Given the description of an element on the screen output the (x, y) to click on. 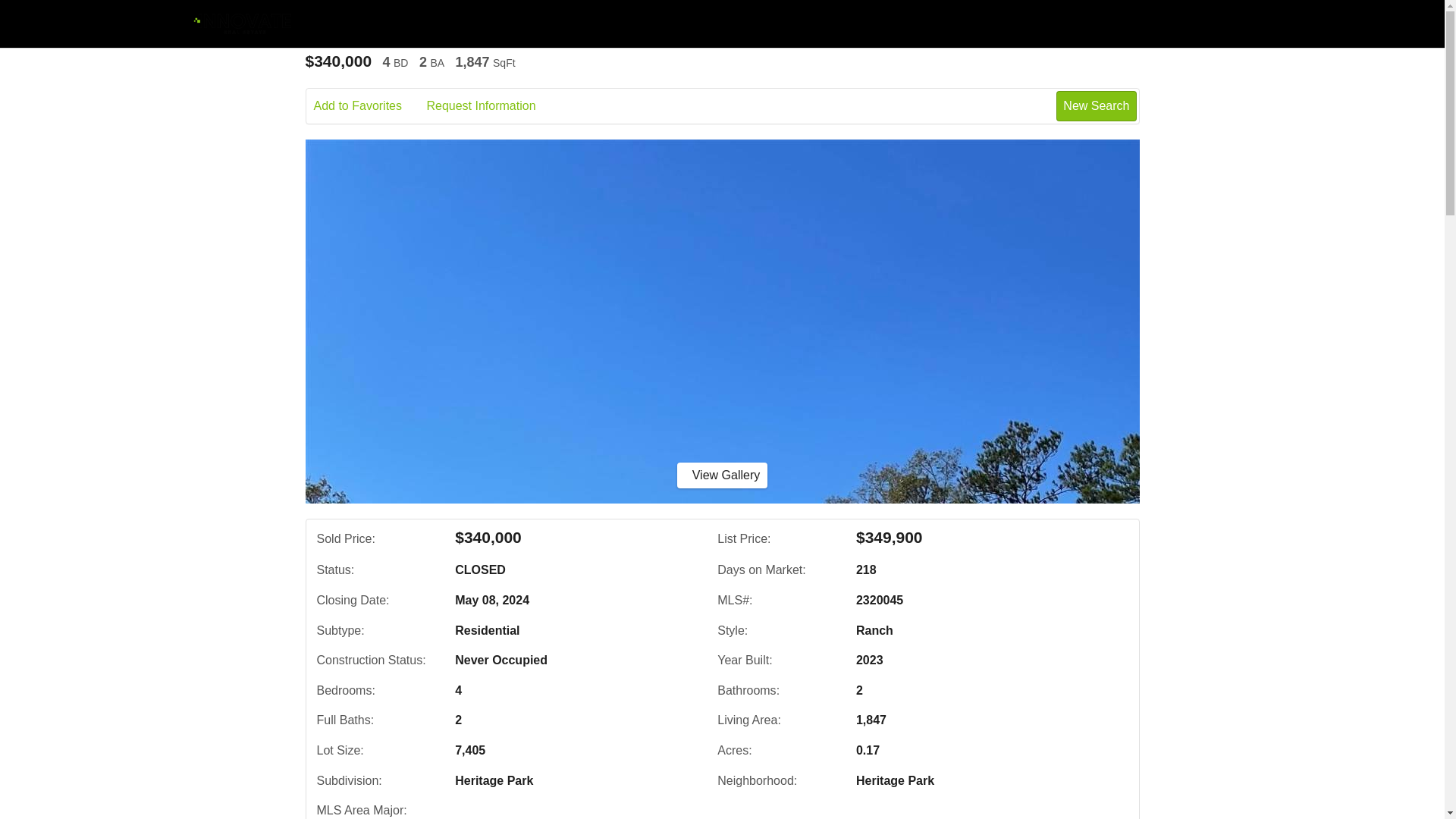
View Gallery (722, 474)
Request Information (491, 106)
View Gallery (722, 475)
Add to Favorites (368, 106)
New Search (1096, 105)
